Given the description of an element on the screen output the (x, y) to click on. 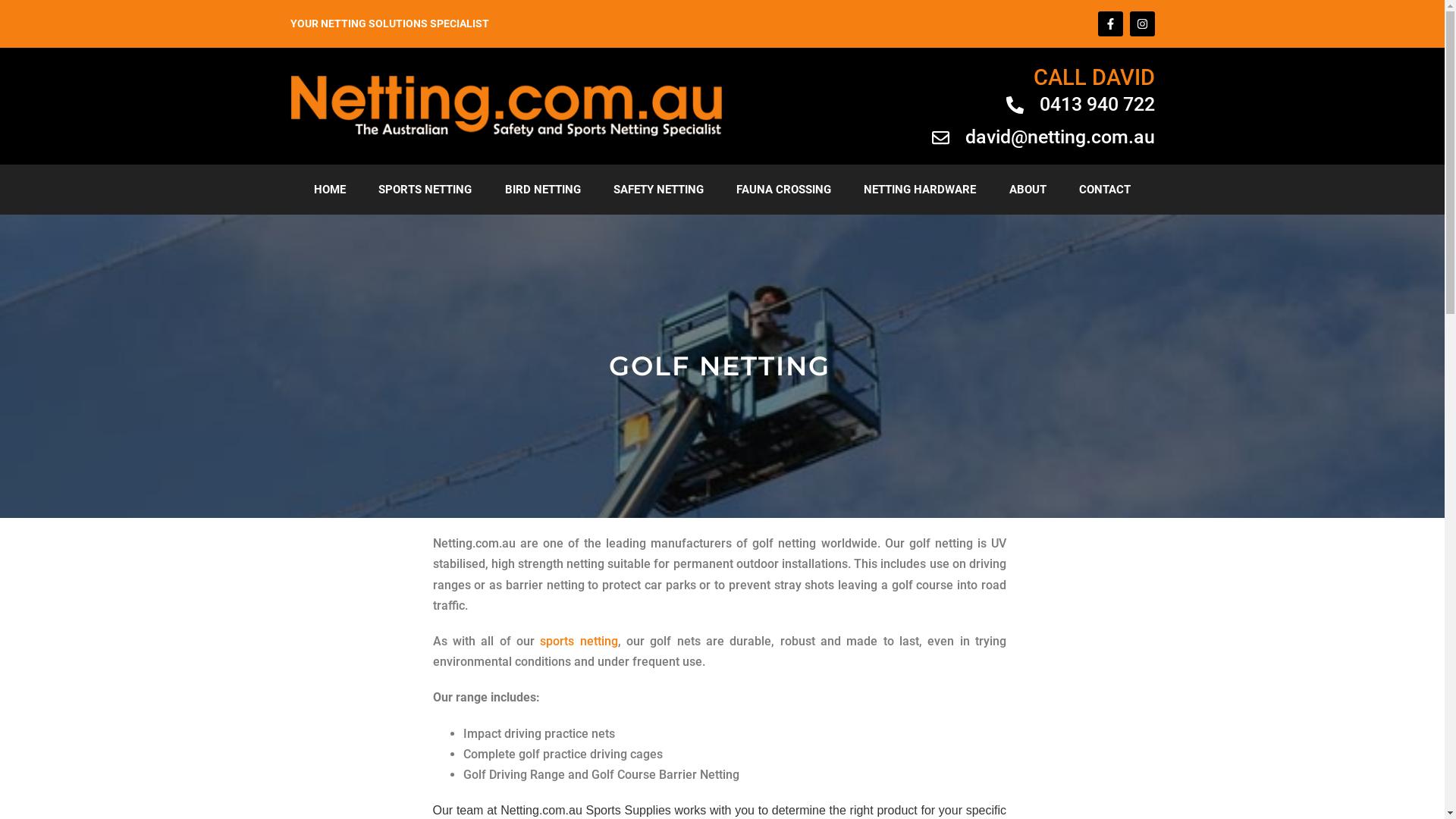
SAFETY NETTING Element type: text (657, 189)
NETTING HARDWARE Element type: text (919, 189)
BIRD NETTING Element type: text (542, 189)
SPORTS NETTING Element type: text (425, 189)
HOME Element type: text (329, 189)
ABOUT Element type: text (1027, 189)
FAUNA CROSSING Element type: text (783, 189)
sports netting Element type: text (578, 640)
CONTACT Element type: text (1104, 189)
